Given the description of an element on the screen output the (x, y) to click on. 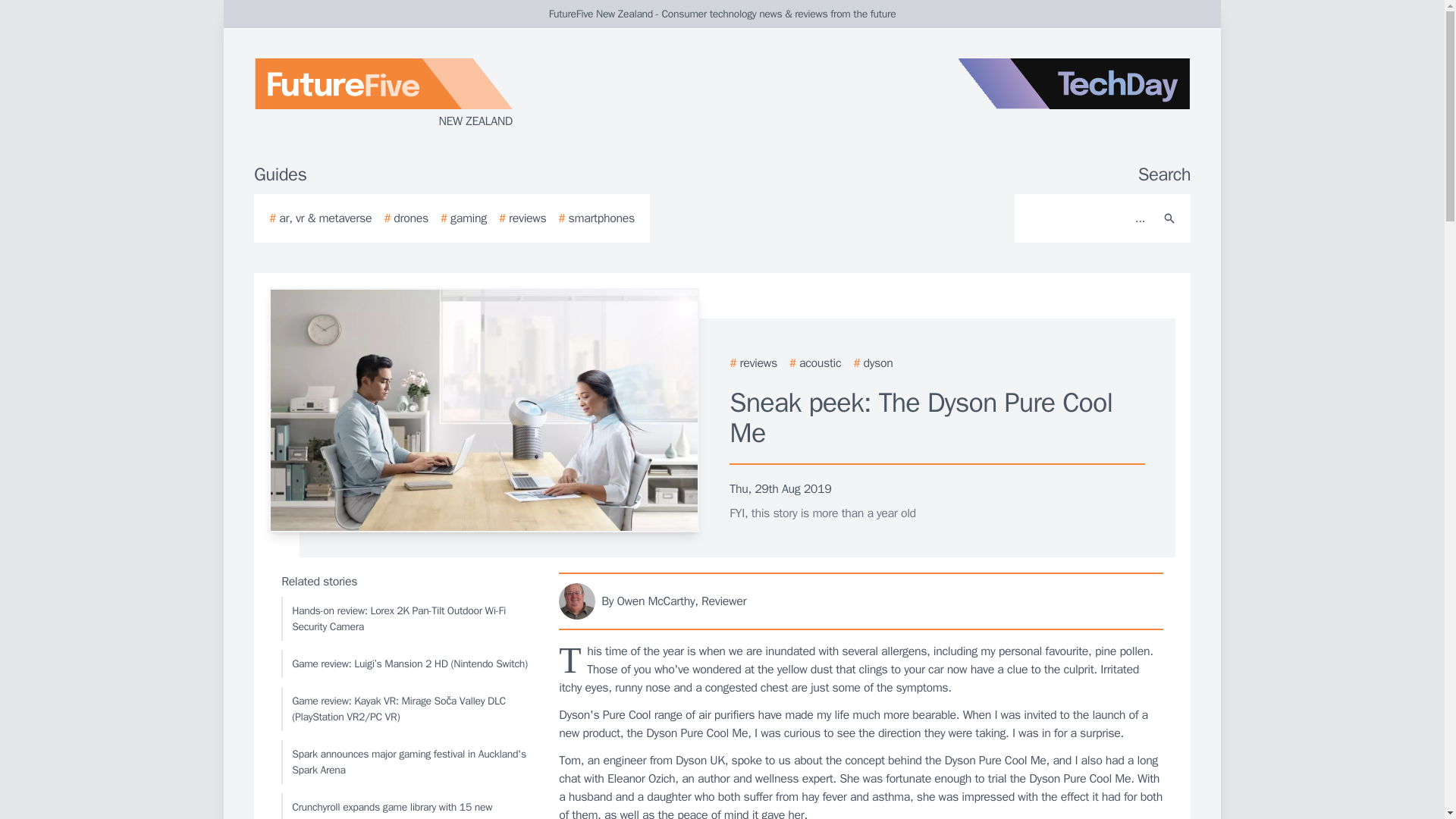
By Owen McCarthy, Reviewer (861, 601)
NEW ZEALAND (435, 94)
